Given the description of an element on the screen output the (x, y) to click on. 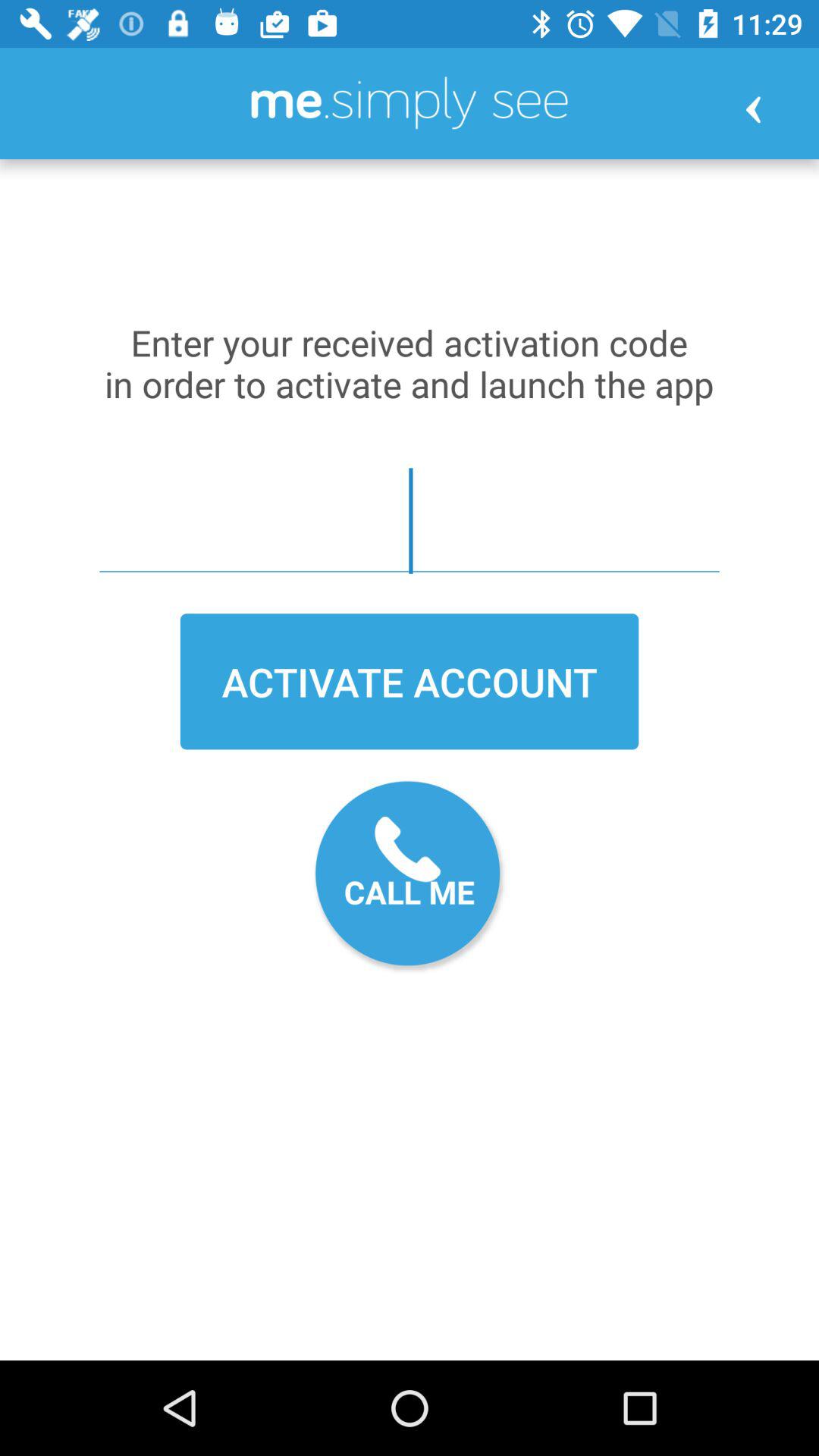
open item above the activate account item (409, 520)
